Given the description of an element on the screen output the (x, y) to click on. 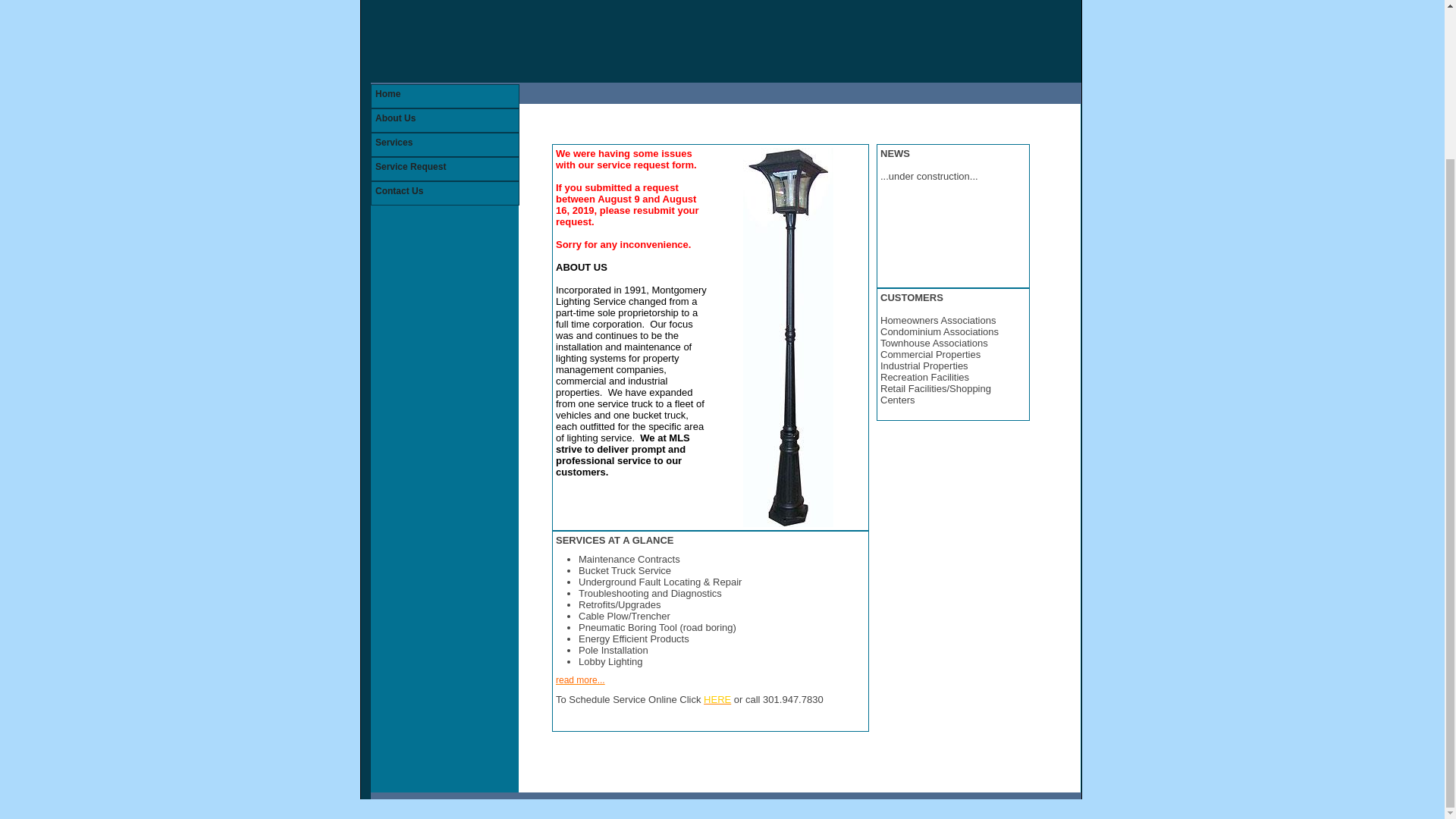
Service Request (444, 169)
read more... (580, 679)
Contact Us (444, 192)
Services (444, 144)
HERE (716, 699)
About Us (444, 119)
Home (444, 96)
